Given the description of an element on the screen output the (x, y) to click on. 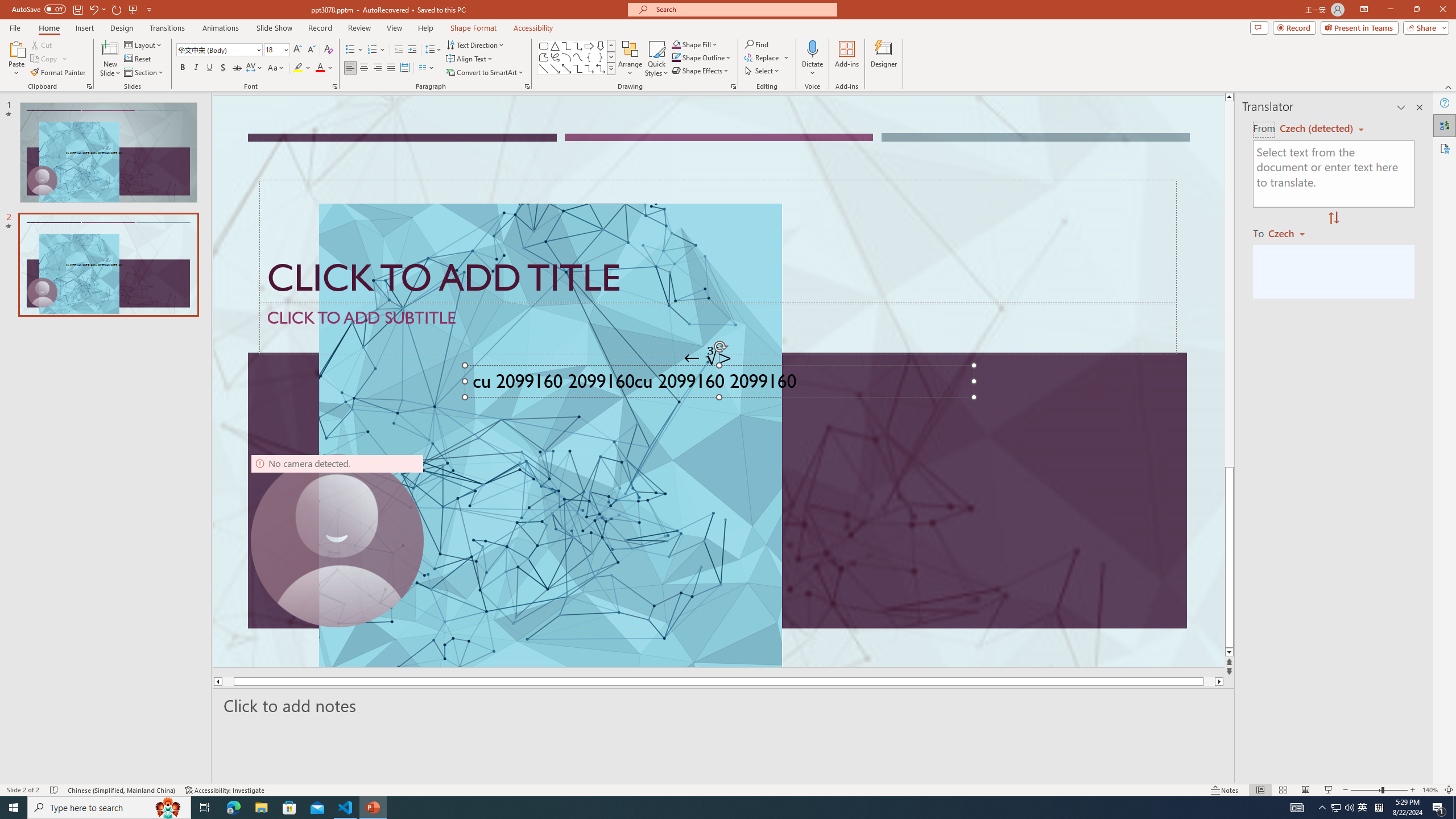
Line Arrow: Double (566, 68)
